Given the description of an element on the screen output the (x, y) to click on. 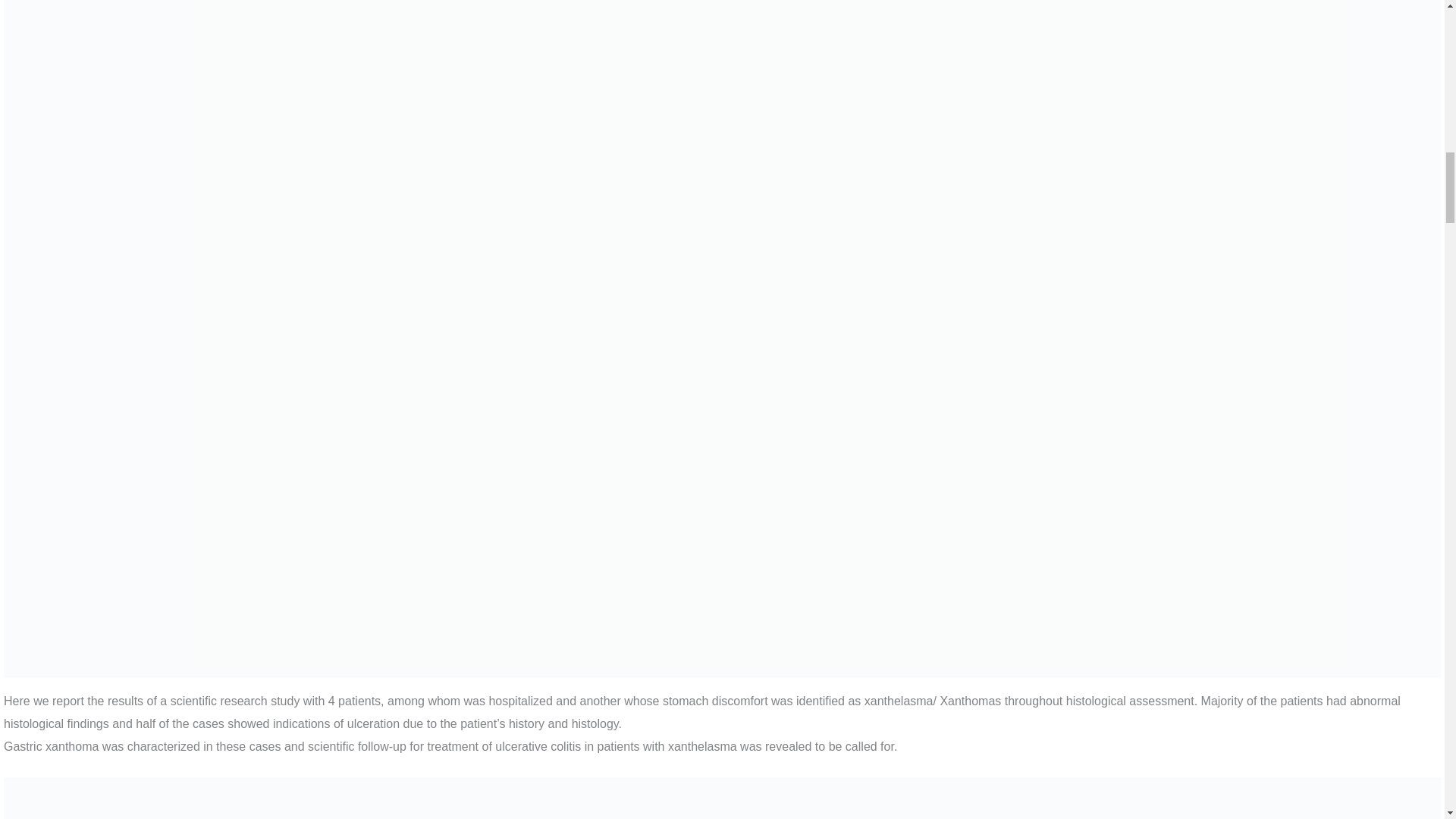
gastric xanthelasma (722, 798)
